Given the description of an element on the screen output the (x, y) to click on. 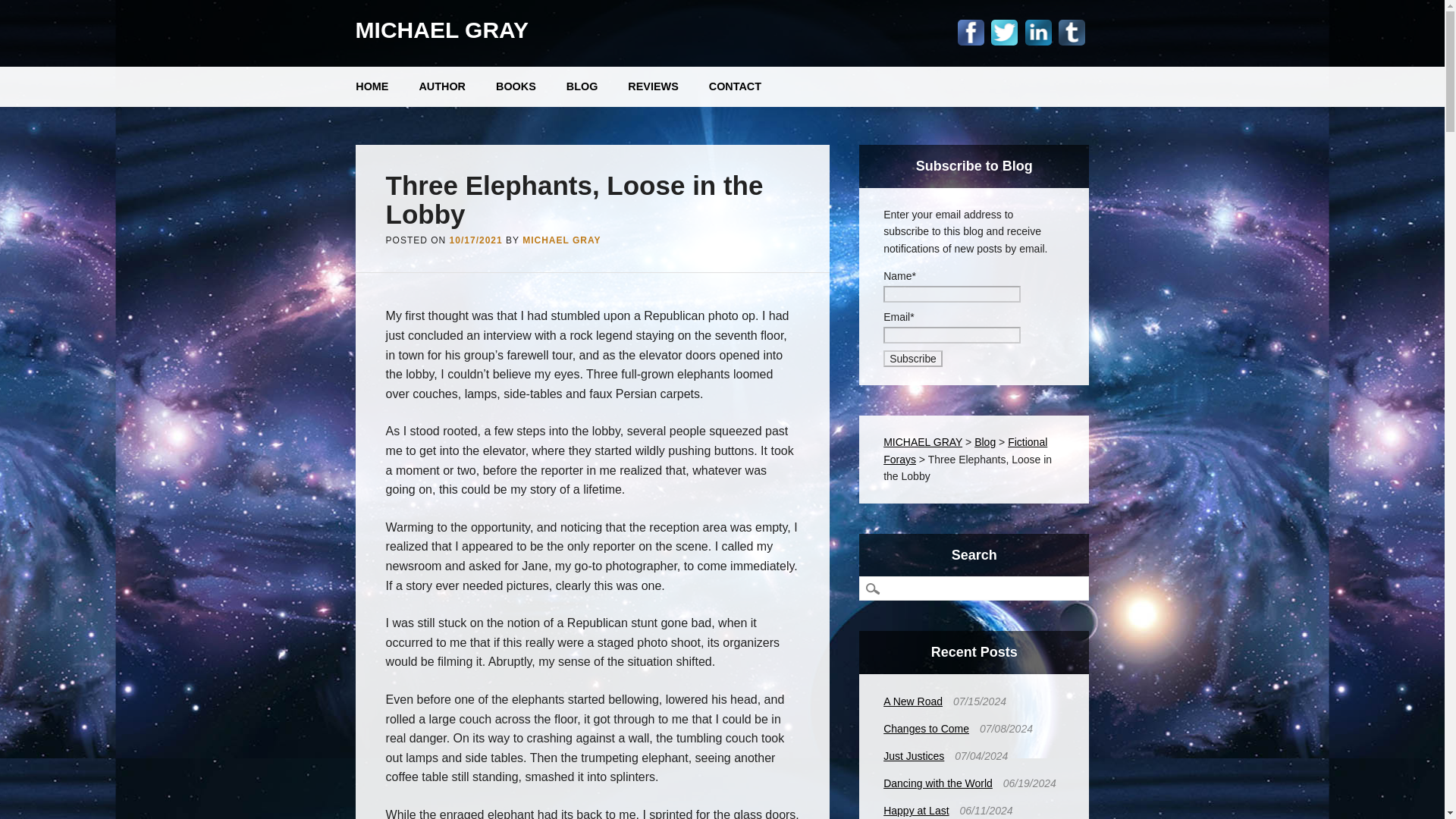
MICHAEL GRAY (560, 240)
View all posts by Michael Gray (560, 240)
HOME (371, 86)
REVIEWS (652, 86)
MICHAEL GRAY (441, 29)
Linkedin (1038, 32)
MICHAEL GRAY (441, 29)
Subscribe (912, 358)
BOOKS (515, 86)
Twitter (1004, 32)
Facebook (971, 32)
Tumblr (1071, 32)
6:30 PM (475, 240)
AUTHOR (441, 86)
CONTACT (735, 86)
